Given the description of an element on the screen output the (x, y) to click on. 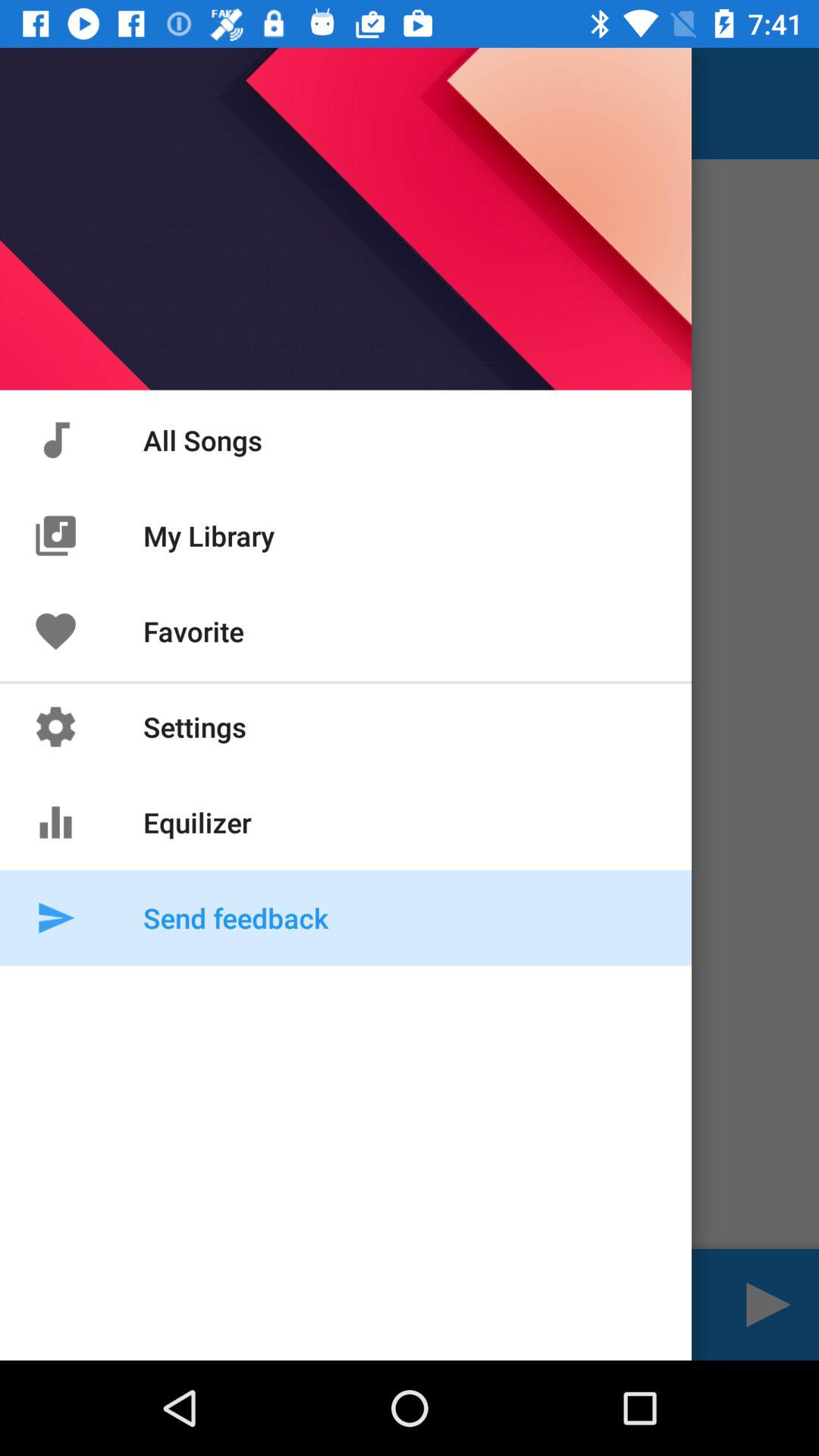
select the logo which is left to the all songs (55, 440)
select my library icon (55, 535)
select favorite icon (55, 631)
